Given the description of an element on the screen output the (x, y) to click on. 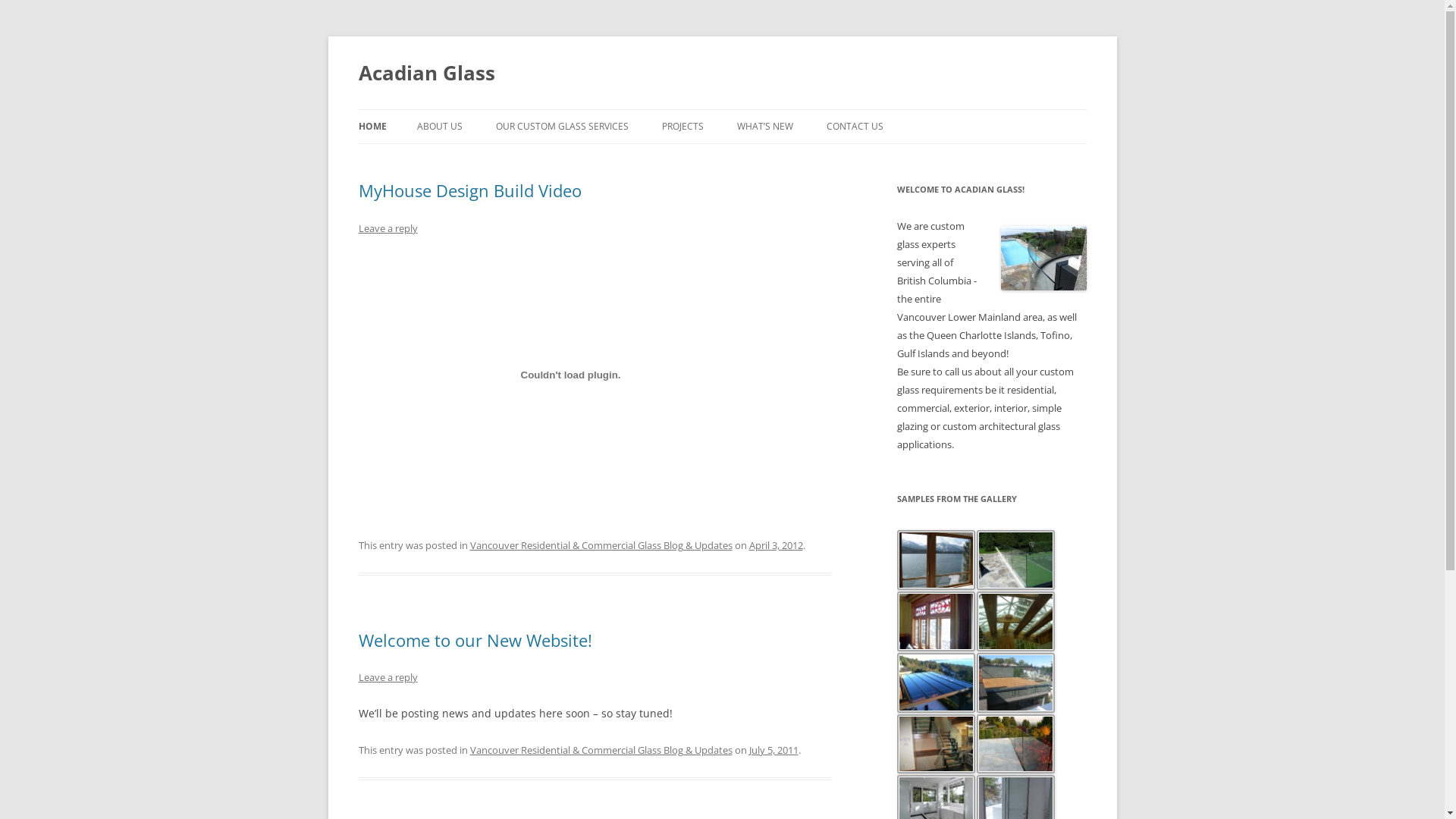
Acadian Glass Element type: text (425, 72)
Welcome to our New Website! Element type: text (474, 639)
044 Element type: hover (935, 682)
ABOUT US Element type: text (439, 126)
MyHouse Design Build Video Element type: text (468, 189)
CONTACT US Element type: text (854, 126)
April 3, 2012 Element type: text (776, 545)
41 Element type: hover (1015, 559)
PROJECTS Element type: text (681, 126)
COMMERCIAL GLASS Element type: text (571, 158)
custom-glass-services-vancouver Element type: hover (1043, 257)
INTERIOR CUSTOM GLASS PROJECTS Element type: text (736, 167)
VANCOUVER CUSTOM GLASS SPECIALISTS Element type: text (902, 167)
HOME Element type: text (371, 126)
Vancouver Residential & Commercial Glass Blog & Updates Element type: text (601, 749)
669 Element type: hover (1015, 682)
1 Element type: hover (935, 621)
Skip to content Element type: text (721, 109)
IMG_0428 Element type: hover (1015, 744)
IMG_0103 Element type: hover (935, 744)
July 5, 2011 Element type: text (773, 749)
OUR CUSTOM GLASS SERVICES Element type: text (561, 126)
37 Element type: hover (935, 559)
Vancouver Residential & Commercial Glass Blog & Updates Element type: text (601, 545)
Leave a reply Element type: text (387, 228)
IF Element type: hover (1015, 621)
Leave a reply Element type: text (387, 677)
